Given the description of an element on the screen output the (x, y) to click on. 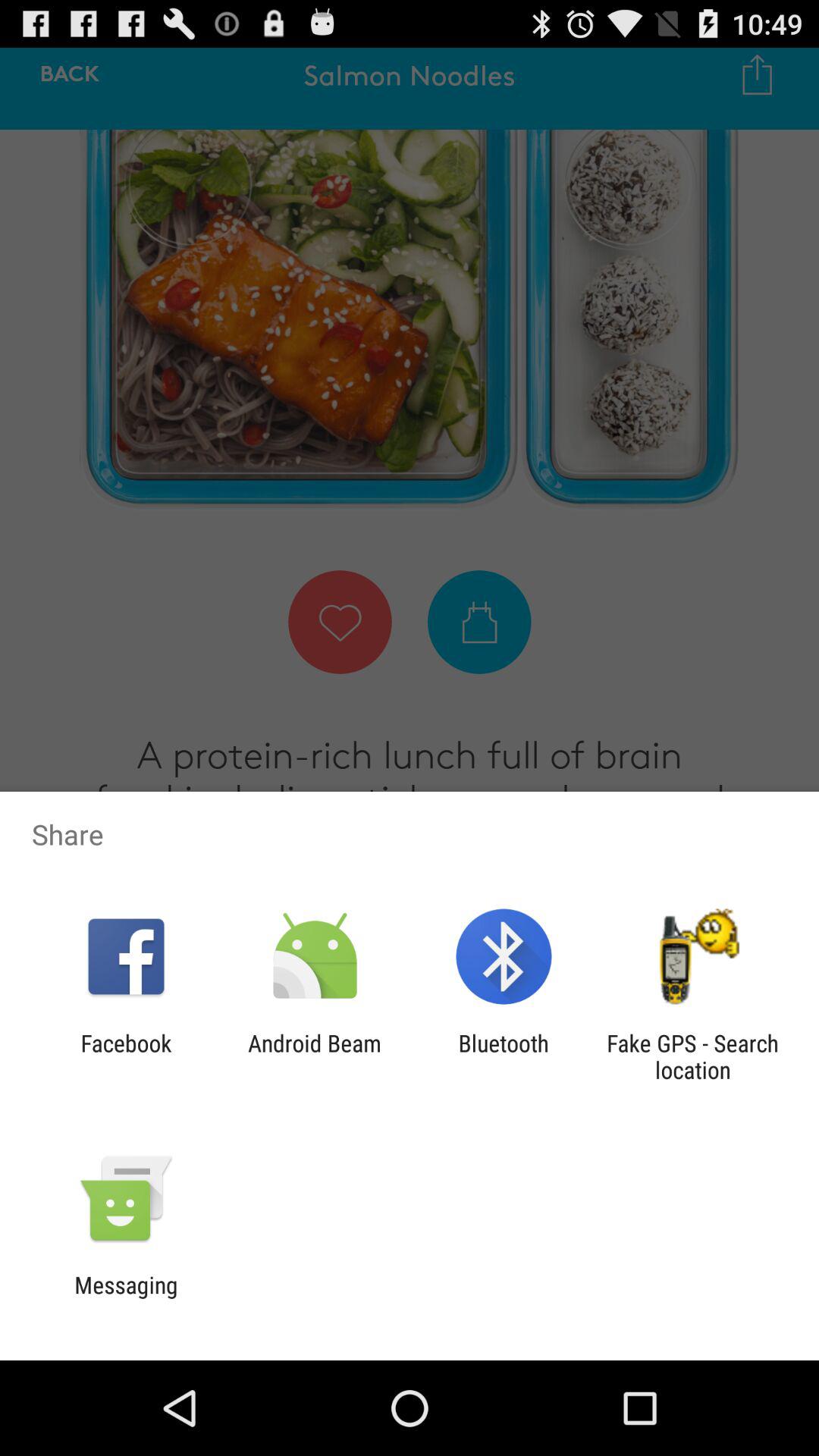
turn on the icon to the left of android beam app (125, 1056)
